Given the description of an element on the screen output the (x, y) to click on. 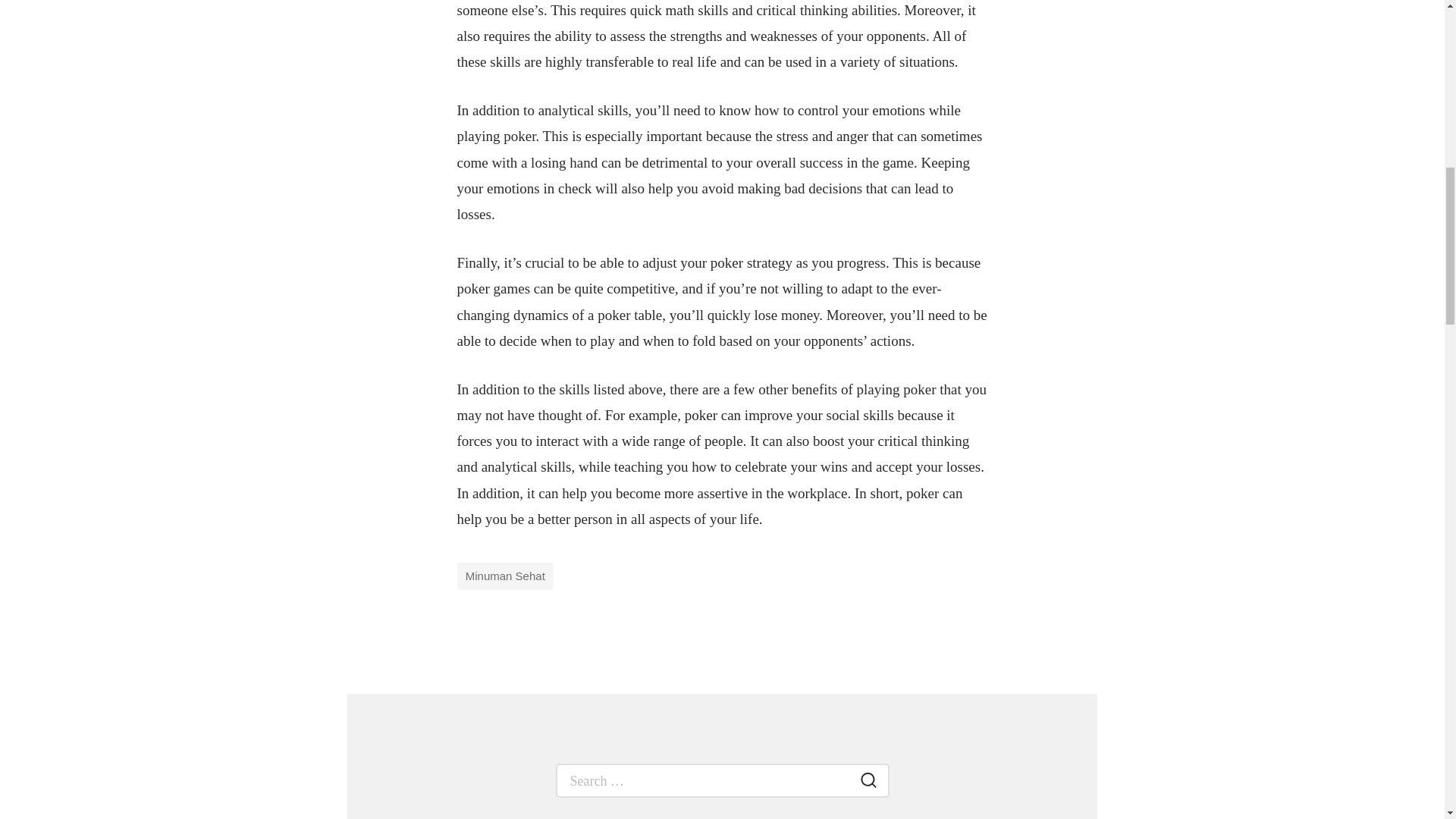
Search (868, 782)
Minuman Sehat (505, 575)
